Given the description of an element on the screen output the (x, y) to click on. 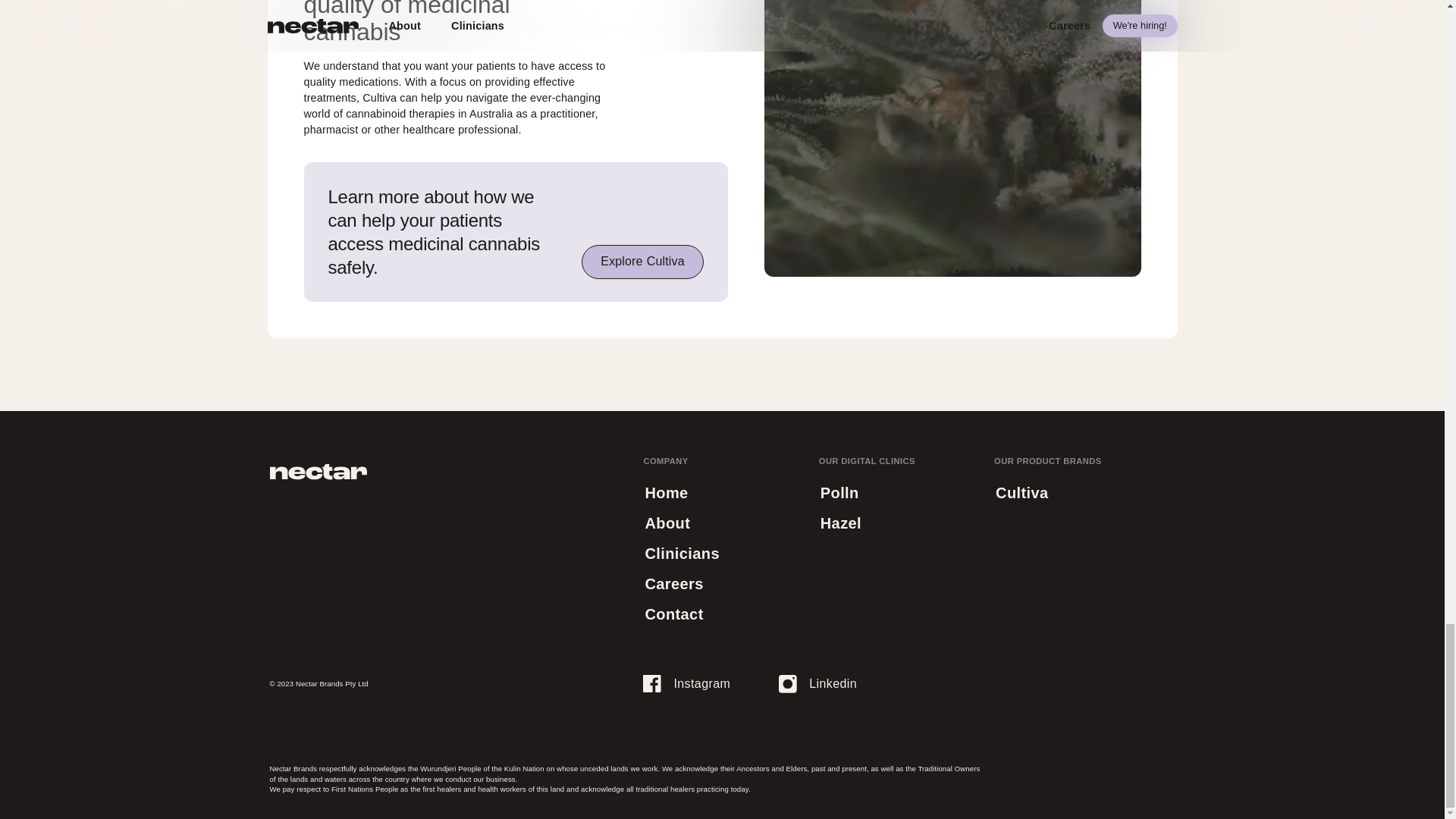
Contact (673, 613)
Clinicians (681, 553)
Polln (839, 492)
Cultiva (1021, 492)
Home (666, 492)
Instagram (686, 683)
About (667, 522)
Careers (641, 261)
Linkedin (673, 583)
Hazel (817, 683)
